Given the description of an element on the screen output the (x, y) to click on. 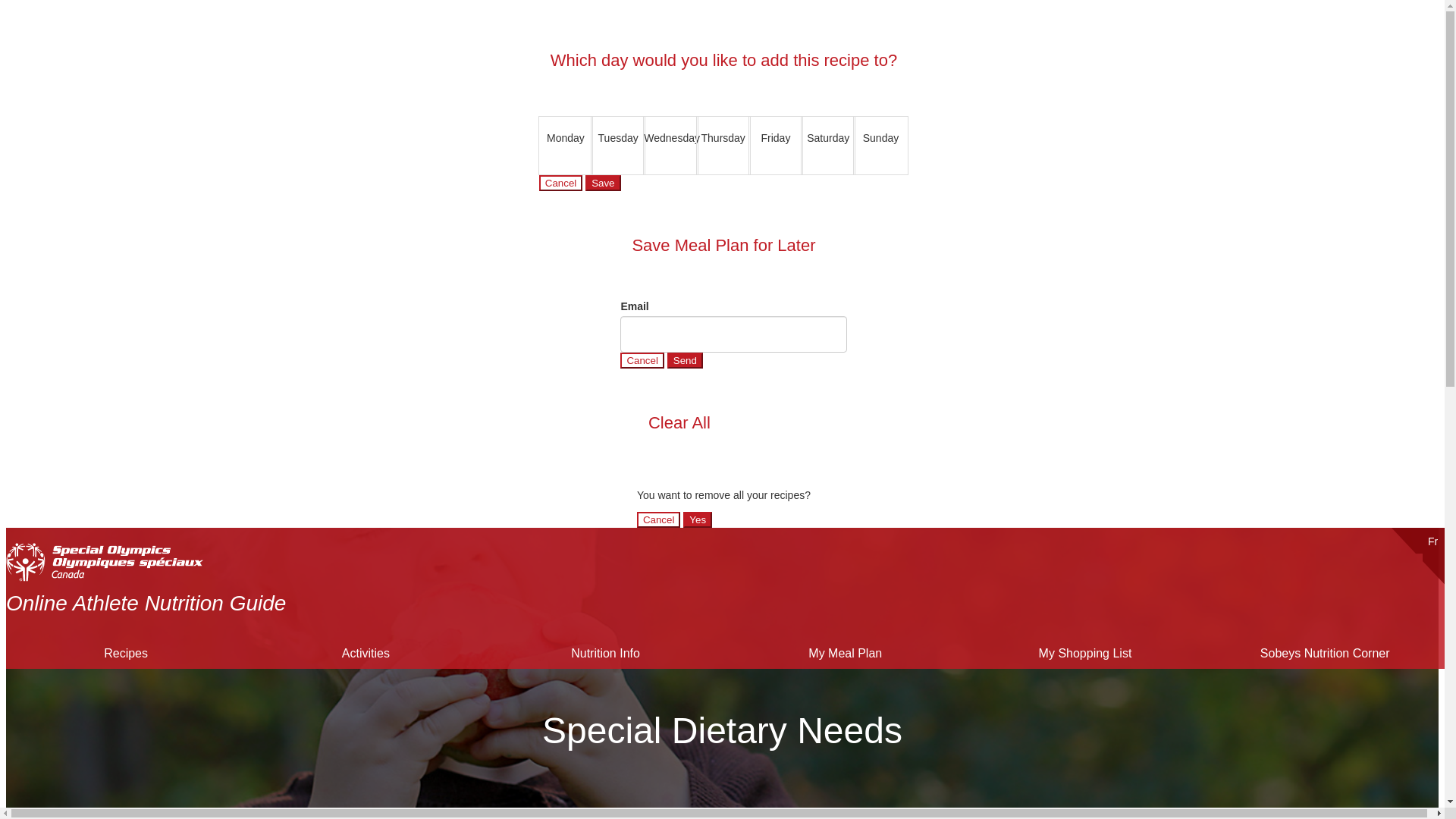
Sunday (880, 144)
Cancel (560, 182)
Wednesday (670, 144)
Thursday (723, 144)
Monday (565, 144)
Cancel (641, 360)
My Meal Plan (845, 653)
Saturday (828, 144)
Activities (365, 653)
Tuesday (618, 144)
Cancel (659, 519)
My Shopping List (1085, 653)
Yes (696, 519)
Online Athlete Nutrition Guide (145, 603)
